Given the description of an element on the screen output the (x, y) to click on. 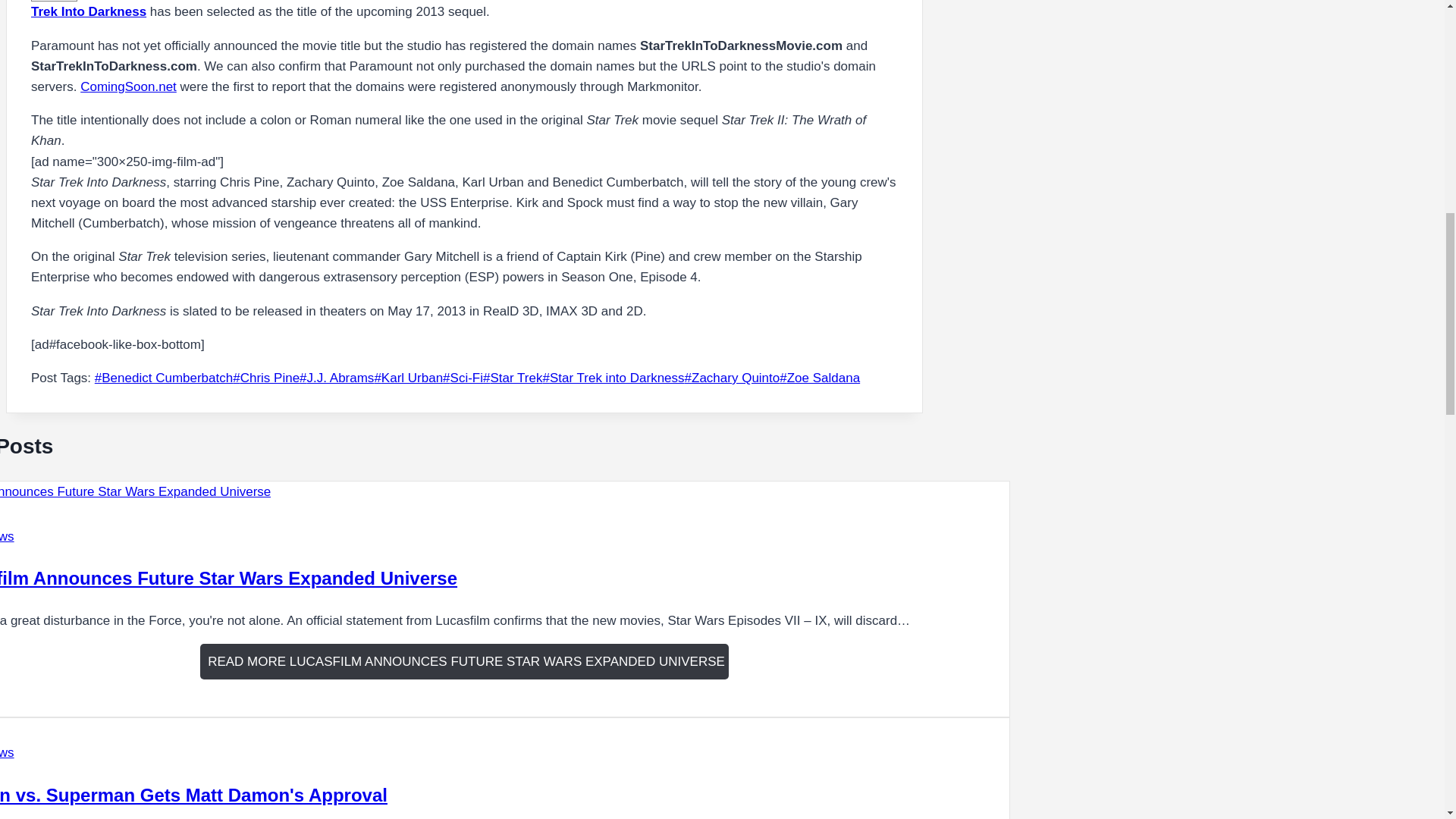
Karl Urban (408, 377)
Zoe Saldana (819, 377)
Movie News (7, 536)
Star Trek into Darkness (612, 377)
Zachary Quinto (732, 377)
Sci-Fi (462, 377)
photo (53, 0)
Chris Pine (265, 377)
J.J. Abrams (336, 377)
Star Trek (512, 377)
Benedict Cumberbatch (163, 377)
Star Trek Into Darkness (460, 9)
ComingSoon.net (128, 86)
